Given the description of an element on the screen output the (x, y) to click on. 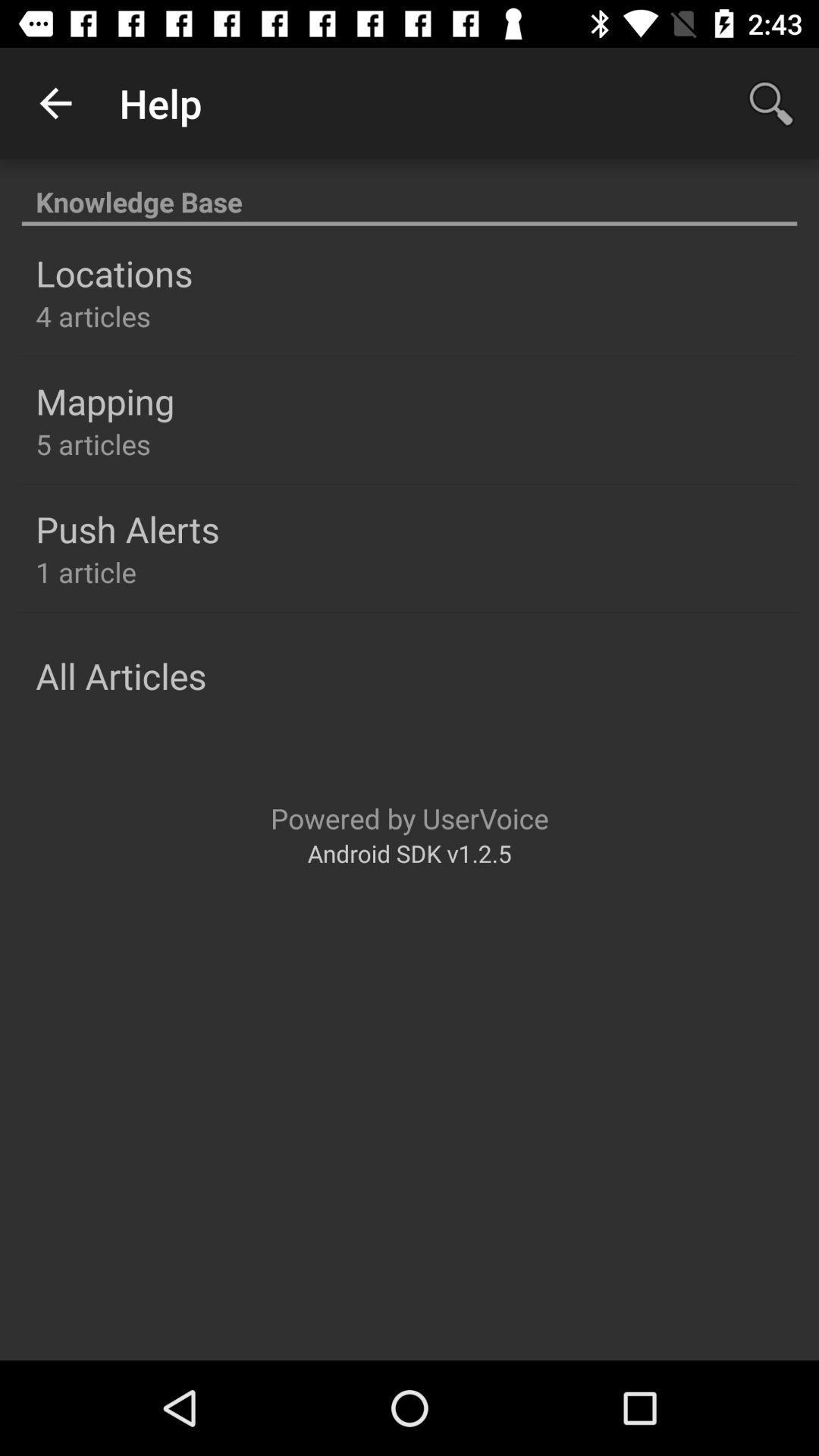
choose icon to the left of the help (55, 103)
